Given the description of an element on the screen output the (x, y) to click on. 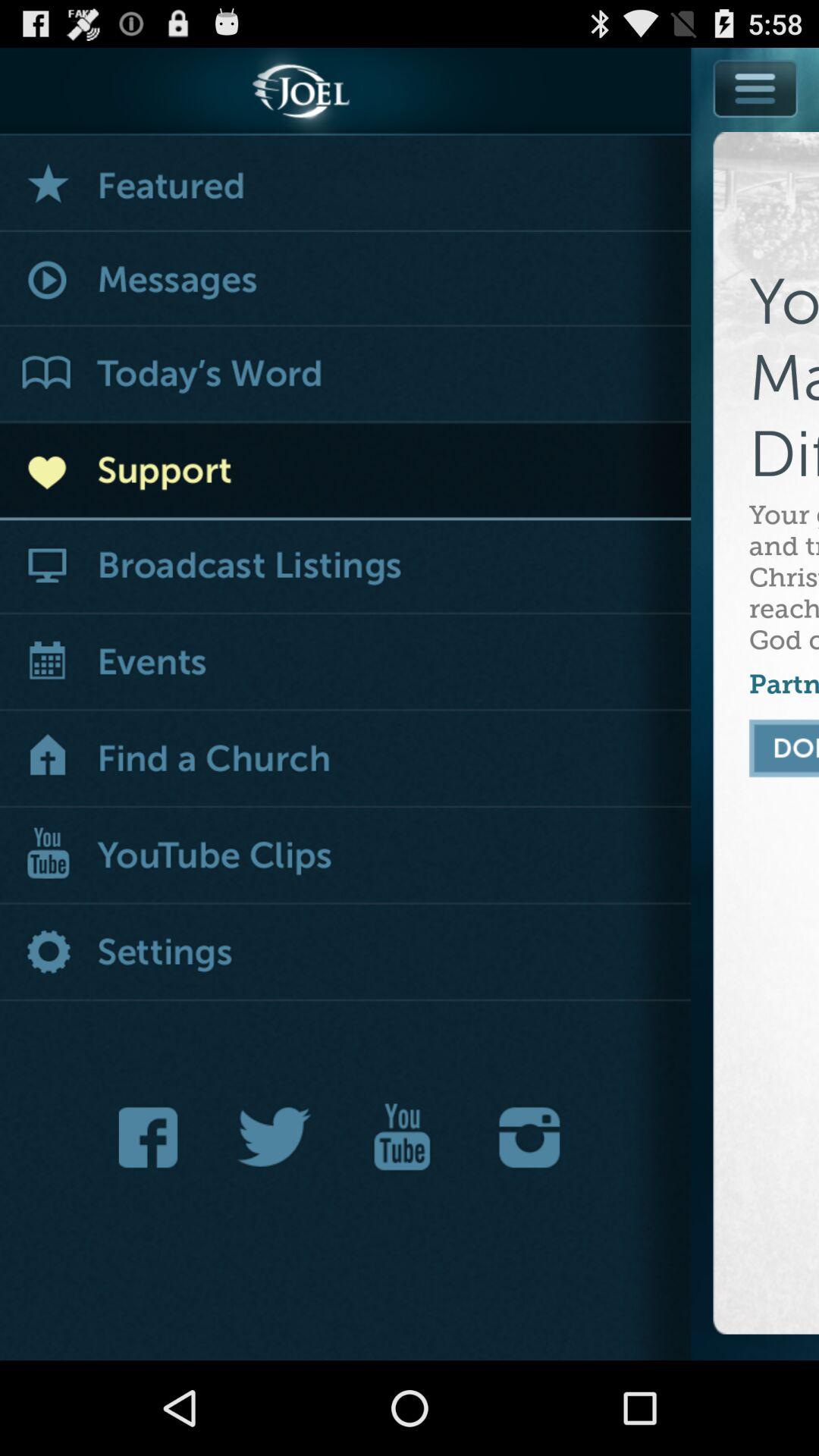
church (345, 760)
